Given the description of an element on the screen output the (x, y) to click on. 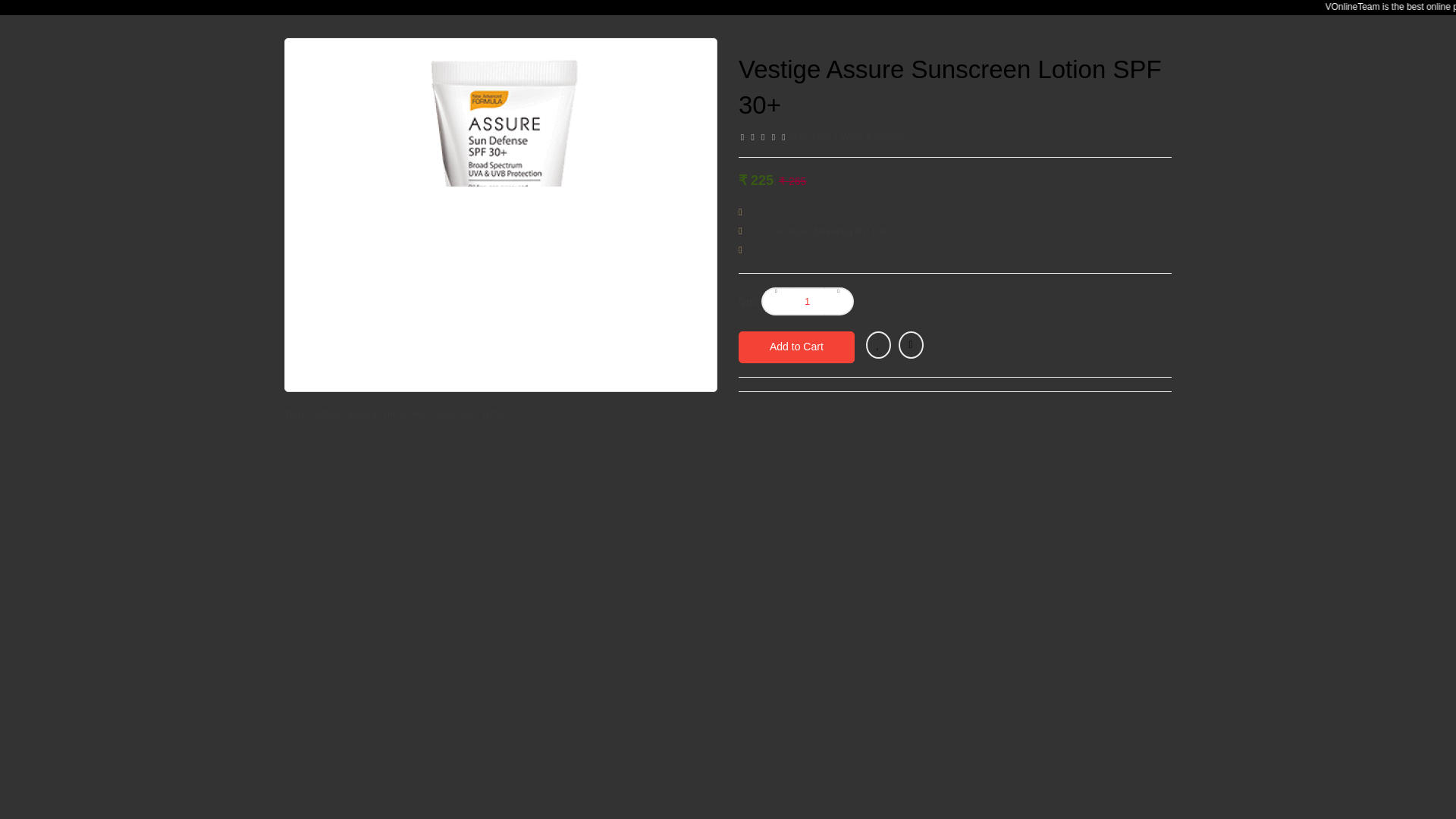
Add to Wish List (878, 344)
1 (808, 301)
Compare this Product (910, 344)
